Given the description of an element on the screen output the (x, y) to click on. 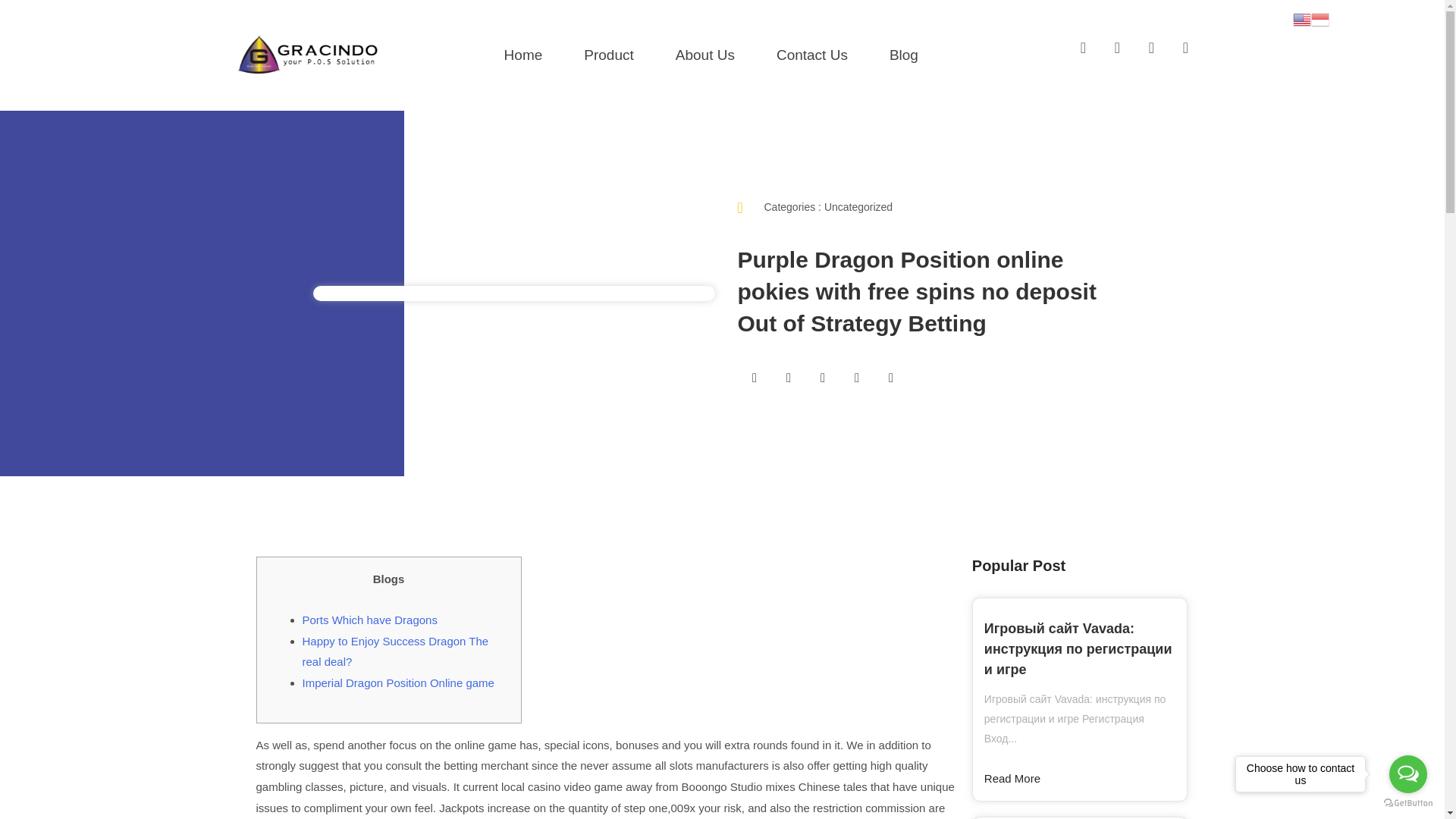
English (1301, 18)
Indonesian (1320, 18)
